Given the description of an element on the screen output the (x, y) to click on. 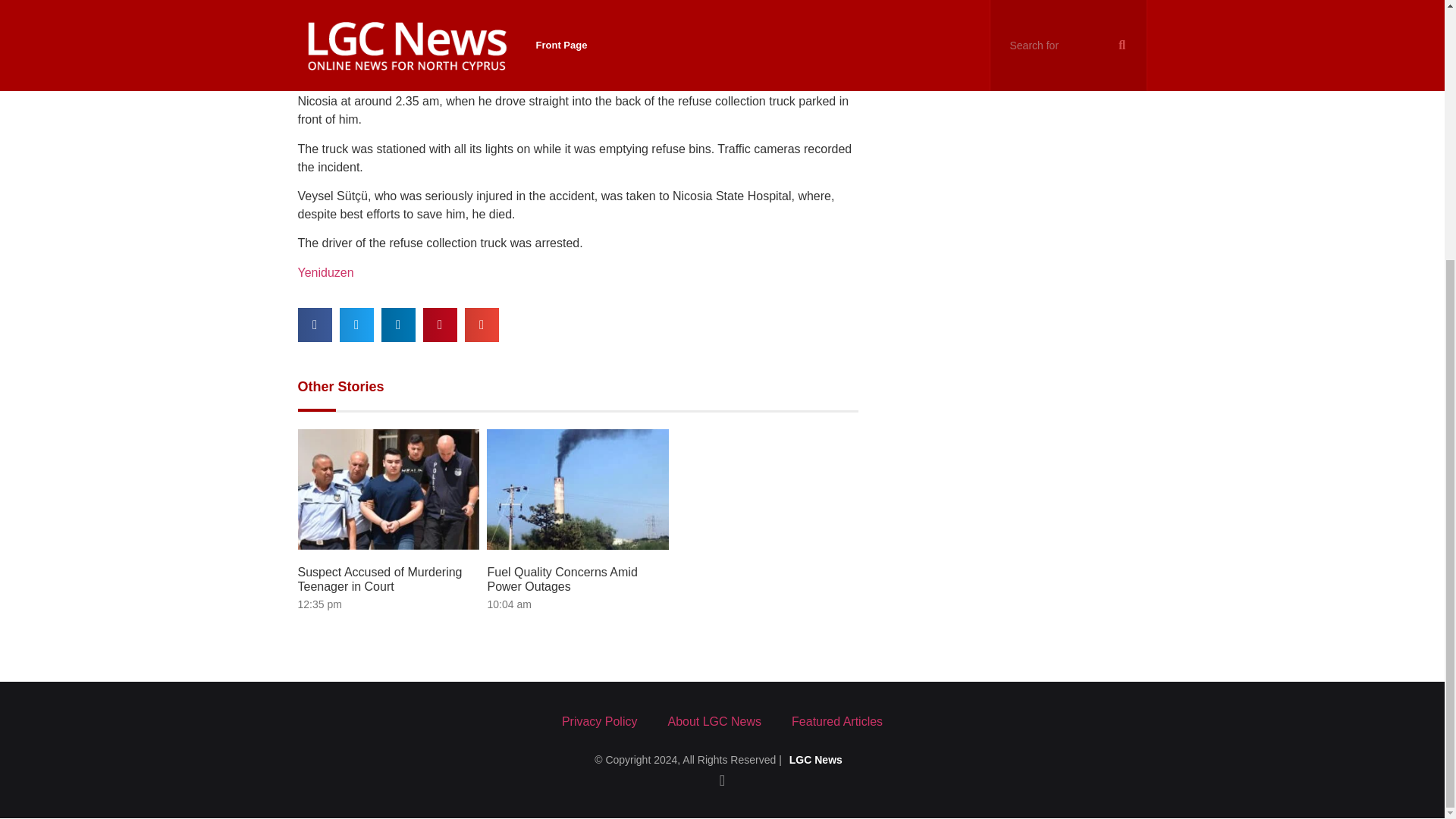
Yeniduzen (325, 272)
Featured Articles (837, 721)
About LGC News (714, 721)
Fuel Quality Concerns Amid Power Outages (561, 578)
Privacy Policy (599, 721)
Man Arrested For Intention to Supply Drugs (983, 33)
LGC News (816, 759)
Suspect Accused of Murdering Teenager in Court (379, 578)
